Given the description of an element on the screen output the (x, y) to click on. 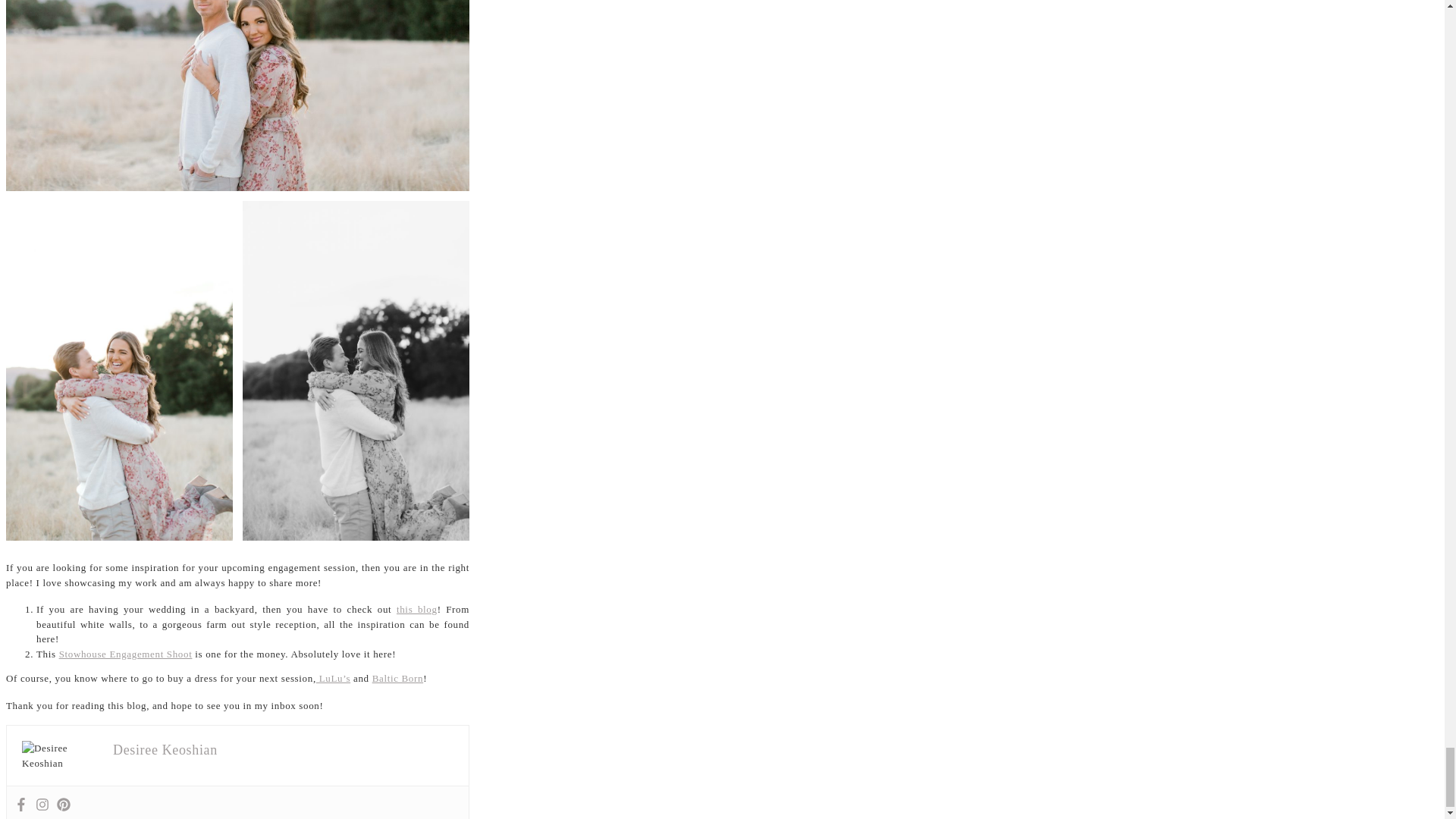
Stowhouse Engagement Shoot (125, 653)
Instagram (41, 805)
Baltic Born (397, 677)
Desiree Keoshian (164, 749)
this blog (417, 609)
Pinterest (62, 805)
Facebook (20, 805)
